Given the description of an element on the screen output the (x, y) to click on. 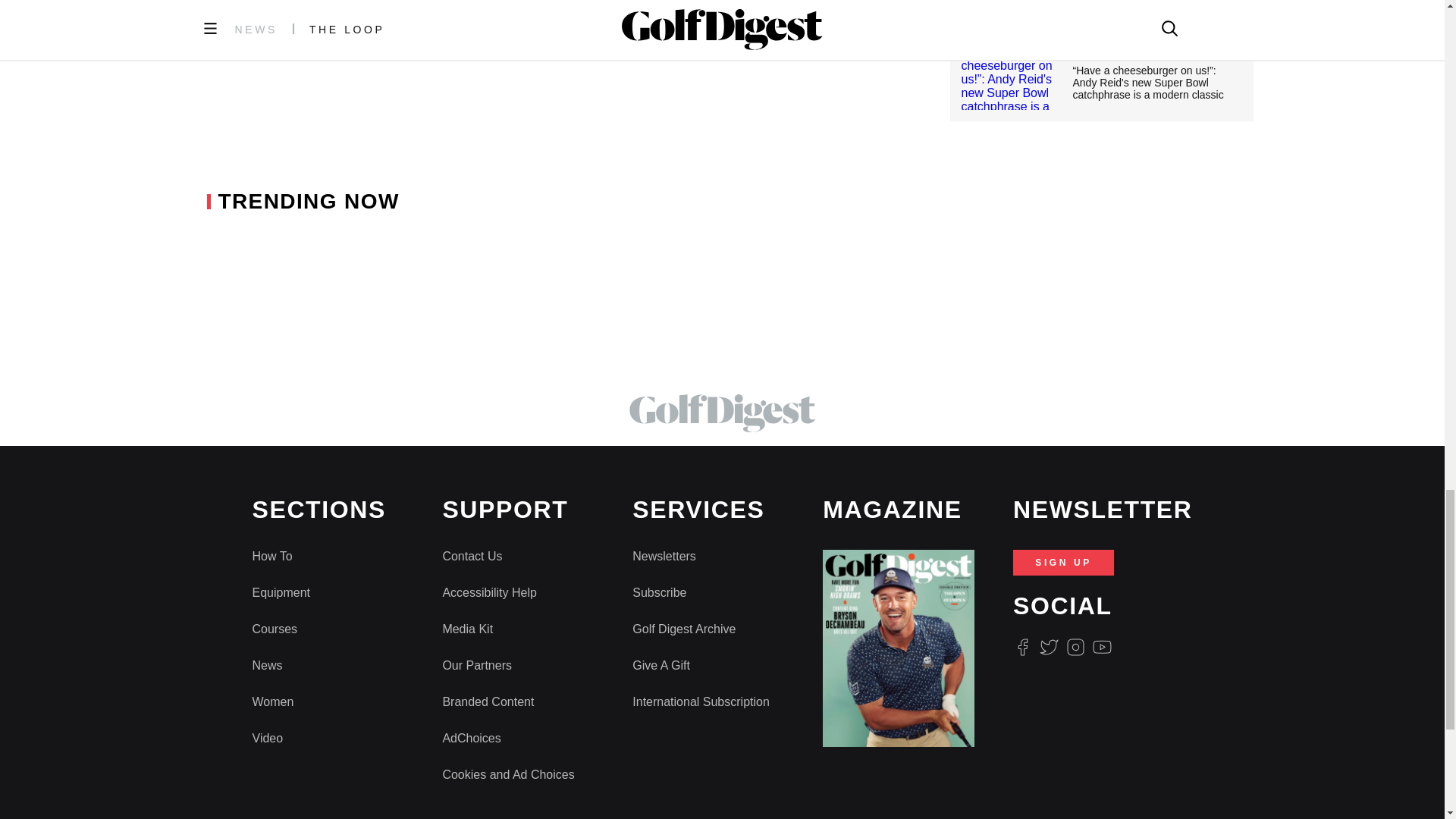
Share on LinkedIn (506, 31)
Facebook Logo (1022, 647)
Youtube Icon (1102, 647)
Instagram Logo (1074, 647)
Share on Facebook (432, 31)
Share on Twitter (472, 31)
Twitter Logo (1048, 647)
